Given the description of an element on the screen output the (x, y) to click on. 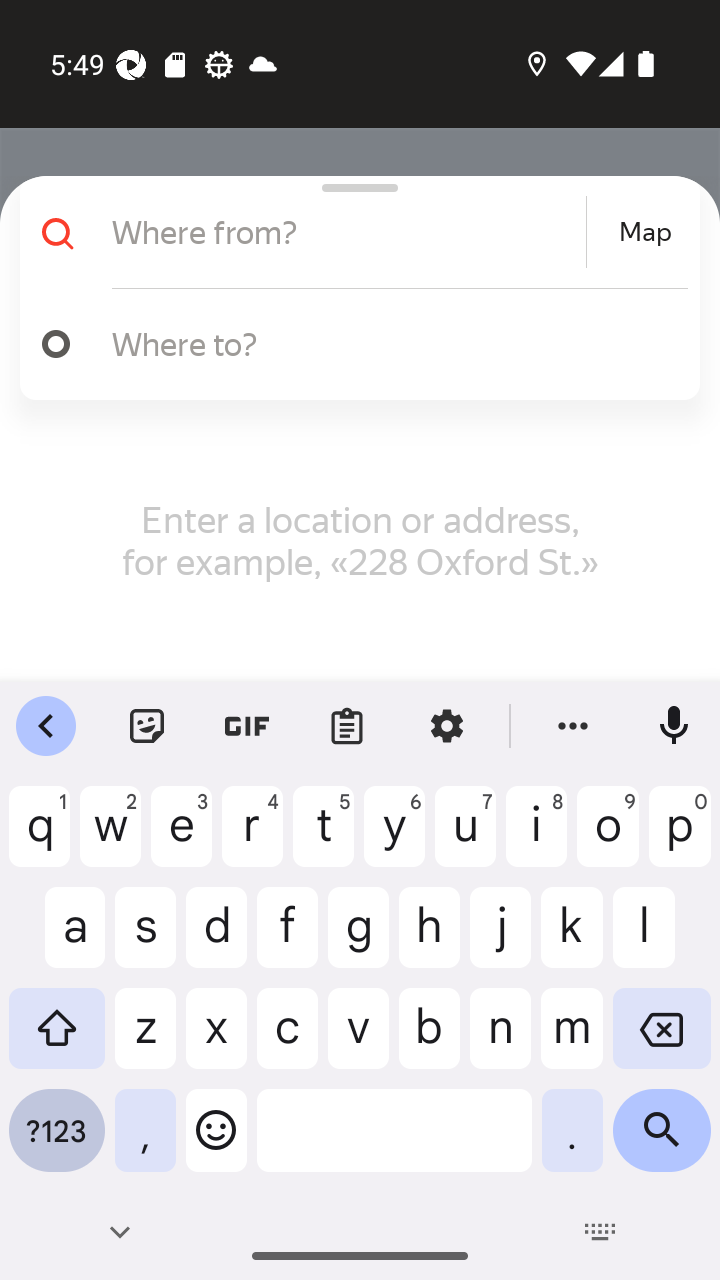
Where from? Map Map (352, 232)
Map (645, 232)
Where from? (346, 232)
Where to? (352, 343)
Where to? (390, 343)
